Given the description of an element on the screen output the (x, y) to click on. 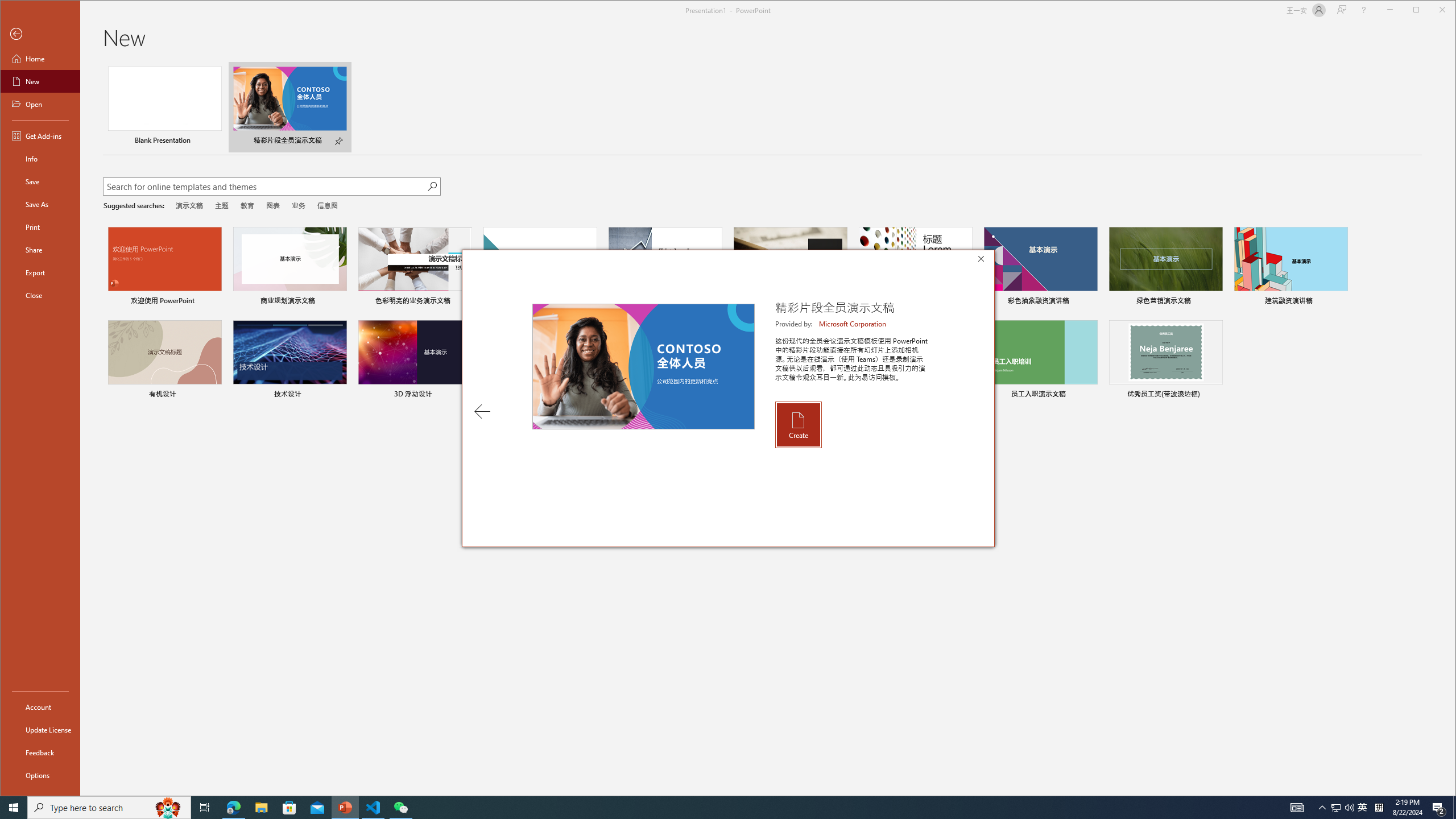
Account (40, 706)
Update License (40, 729)
Options (40, 775)
Running applications (707, 807)
Task View (204, 807)
Microsoft Store (289, 807)
New (40, 80)
Preview (643, 366)
Microsoft Edge - 1 running window (233, 807)
Visual Studio Code - 1 running window (373, 807)
Q2790: 100% (1349, 807)
